Given the description of an element on the screen output the (x, y) to click on. 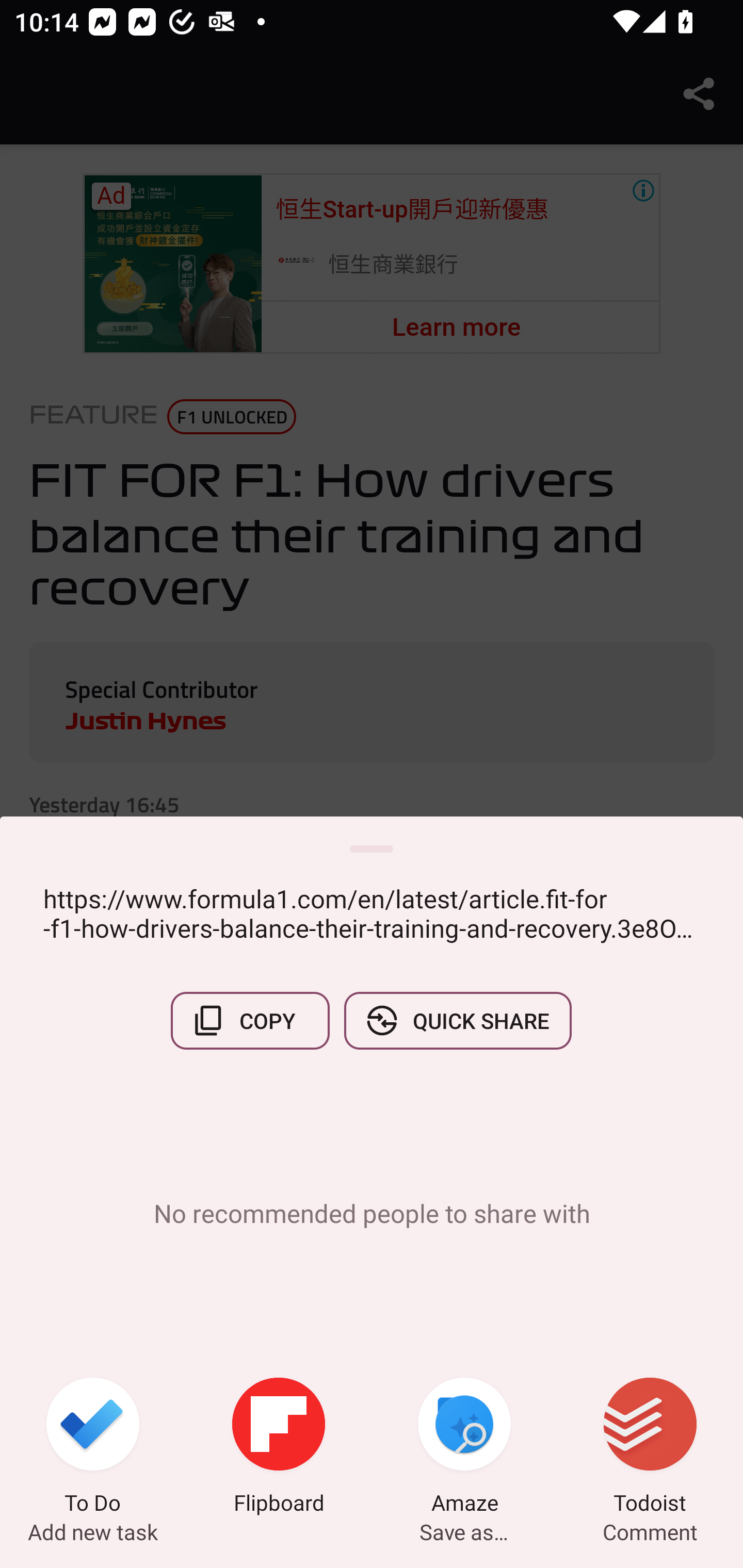
COPY (249, 1020)
QUICK SHARE (457, 1020)
To Do Add new task (92, 1448)
Flipboard (278, 1448)
Amaze Save as… (464, 1448)
Todoist Comment (650, 1448)
